Given the description of an element on the screen output the (x, y) to click on. 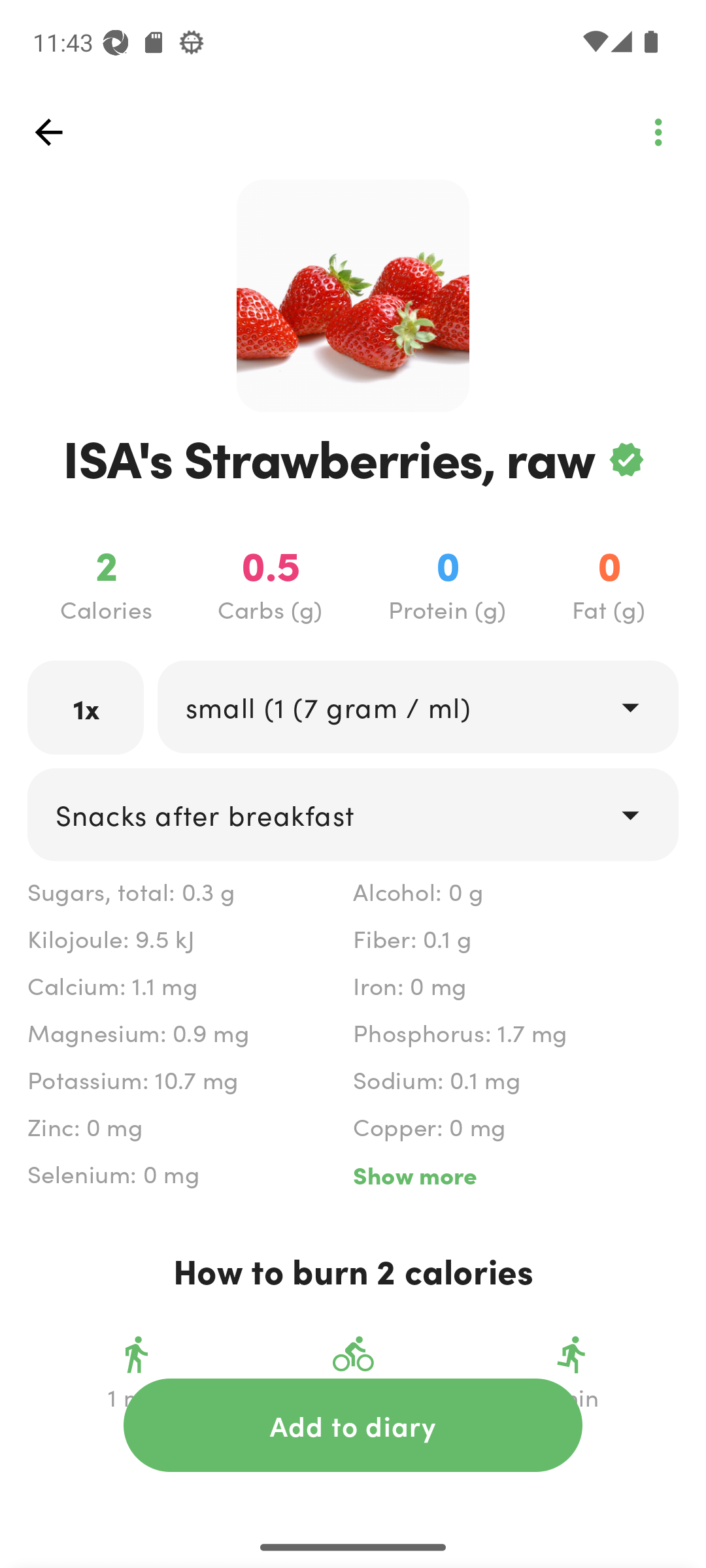
top_left_action (48, 132)
top_left_action (658, 132)
1x labeled_edit_text (85, 707)
drop_down small (1 (7 gram / ml) (417, 706)
drop_down Snacks after breakfast (352, 814)
Show more (515, 1174)
action_button Add to diary (352, 1425)
